Given the description of an element on the screen output the (x, y) to click on. 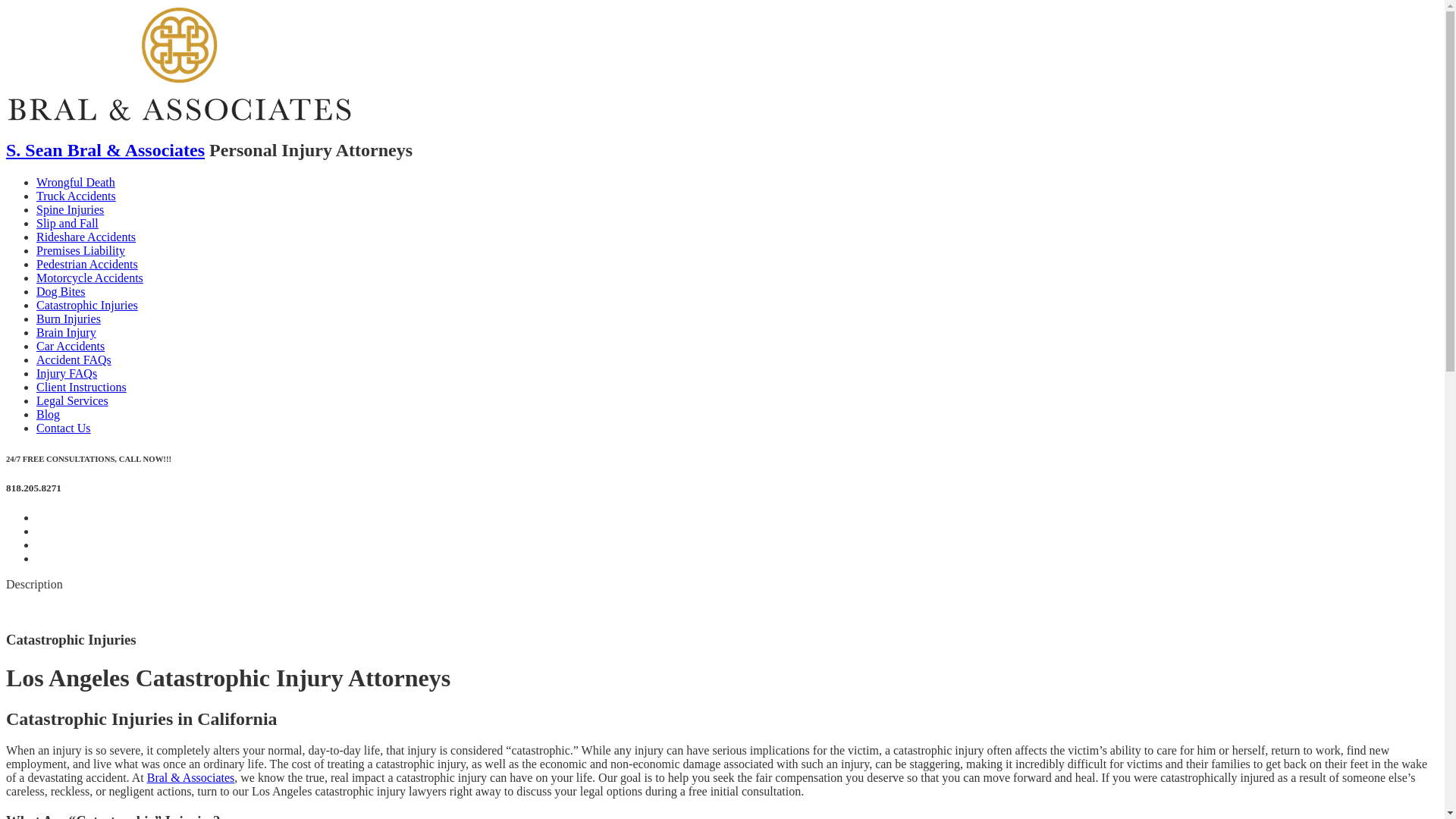
Pedestrian Accidents Element type: text (87, 263)
Slip and Fall Element type: text (67, 222)
Accident FAQs Element type: text (73, 359)
Contact Us Element type: text (63, 427)
Catastrophic Injuries Element type: text (87, 304)
Dog Bites Element type: text (60, 291)
Legal Services Element type: text (72, 400)
Burn Injuries Element type: text (68, 318)
Bral & Associates Element type: text (191, 777)
Brain Injury Element type: text (66, 332)
S. Sean Bral & Associates Element type: text (105, 150)
Blog Element type: text (47, 413)
Spine Injuries Element type: text (69, 209)
Wrongful Death Element type: text (75, 181)
Premises Liability Element type: text (80, 250)
Injury FAQs Element type: text (66, 373)
Rideshare Accidents Element type: text (85, 236)
Motorcycle Accidents Element type: text (89, 277)
Truck Accidents Element type: text (76, 195)
Car Accidents Element type: text (70, 345)
Client Instructions Element type: text (81, 386)
